Given the description of an element on the screen output the (x, y) to click on. 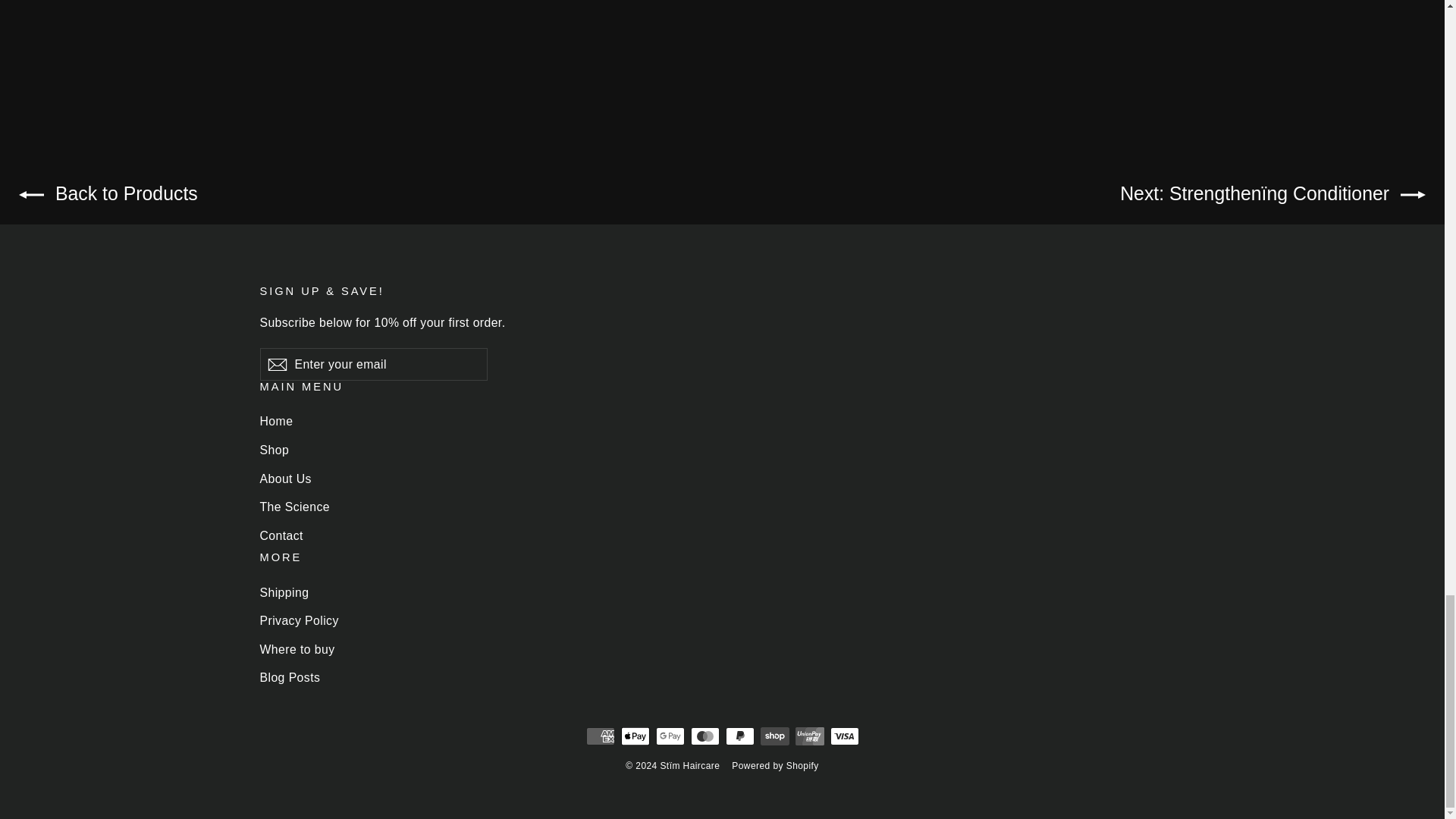
Apple Pay (634, 736)
American Express (599, 736)
Union Pay (809, 736)
Mastercard (704, 736)
Shop Pay (774, 736)
Visa (844, 736)
Google Pay (669, 736)
PayPal (739, 736)
